Given the description of an element on the screen output the (x, y) to click on. 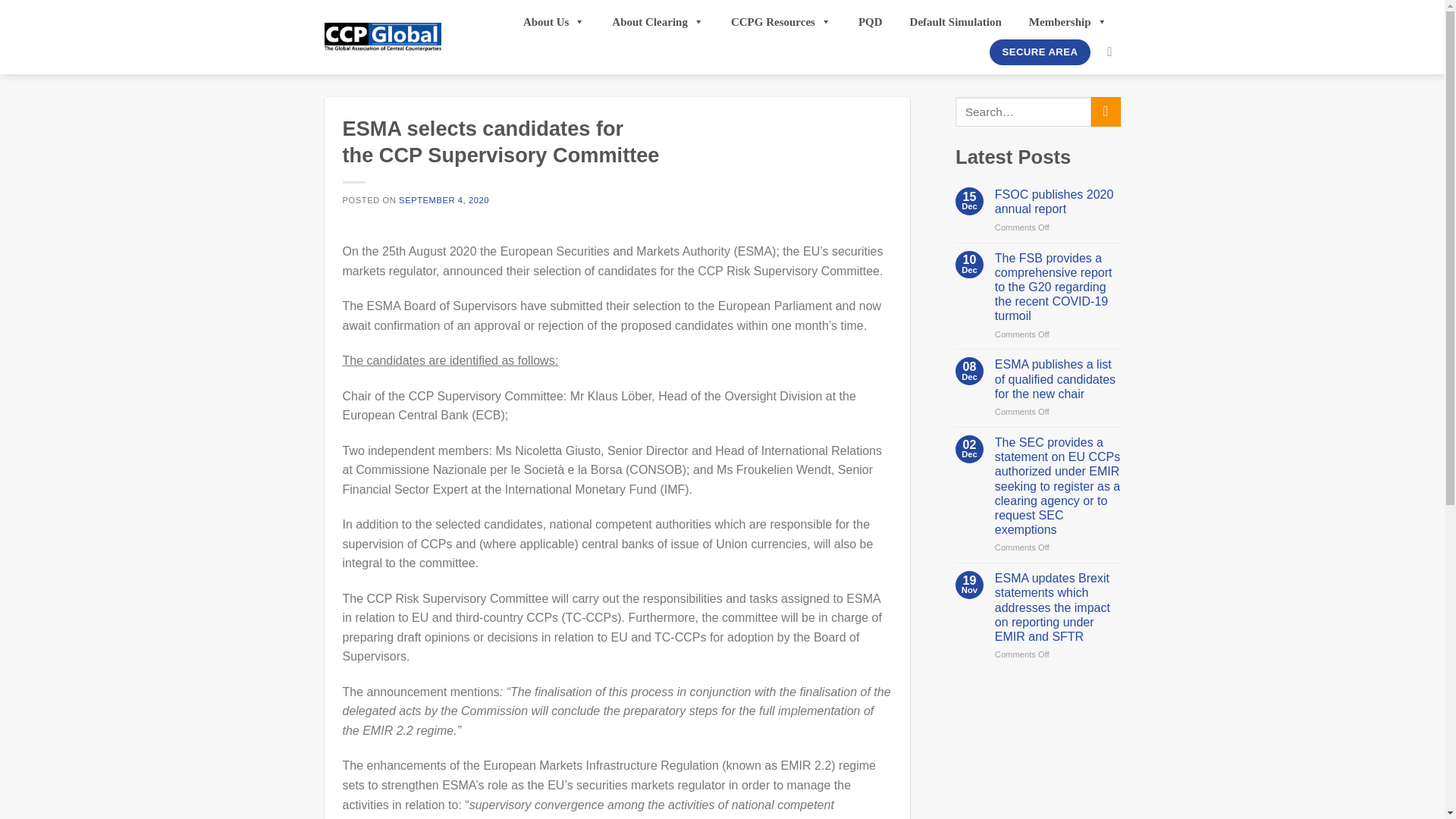
About Us (553, 21)
CCP Global - Global Association of CCPs (382, 37)
FSOC publishes 2020 annual report (1057, 201)
